Given the description of an element on the screen output the (x, y) to click on. 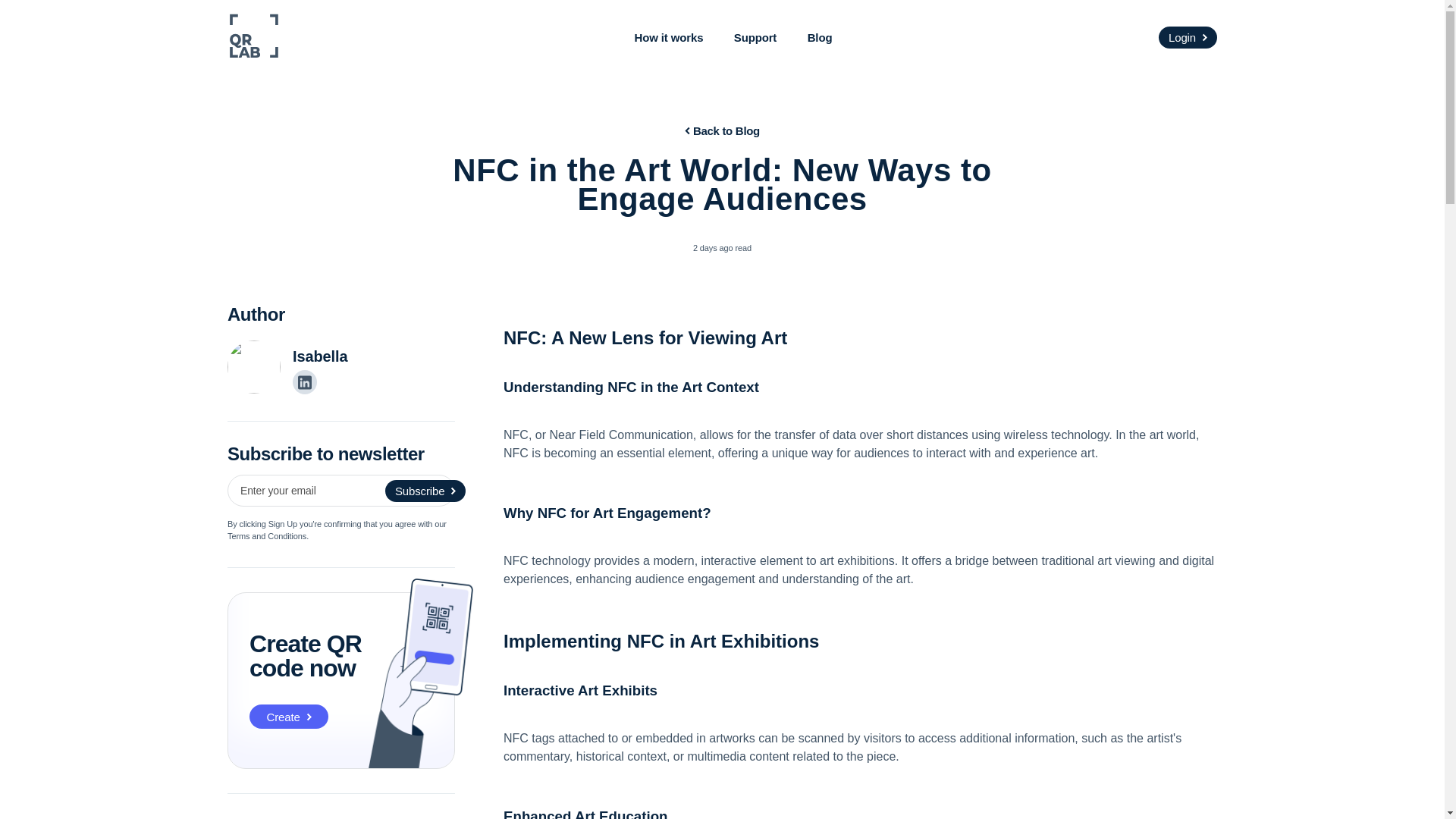
Create (288, 716)
How it works (668, 37)
Login (1187, 37)
Support (754, 37)
Blog (820, 37)
Back to Blog (722, 130)
